Given the description of an element on the screen output the (x, y) to click on. 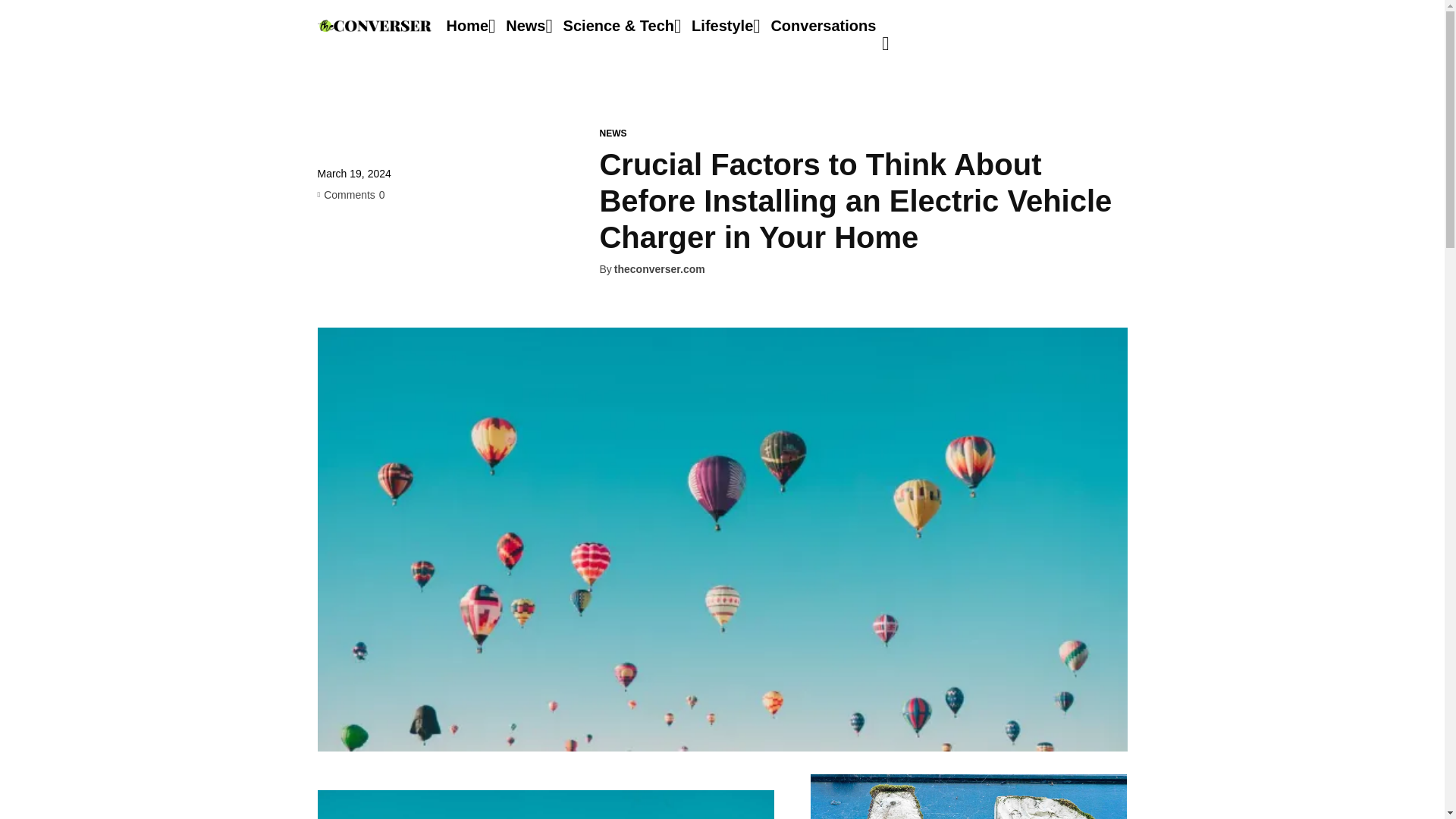
theconverser.com (659, 269)
Home (466, 25)
Lifestyle (721, 25)
News (524, 25)
NEWS (612, 132)
Twitter (366, 252)
Facebook (332, 252)
Conversations (823, 25)
WhatsApp (436, 252)
Comments0 (350, 193)
Pinterest (401, 252)
